Given the description of an element on the screen output the (x, y) to click on. 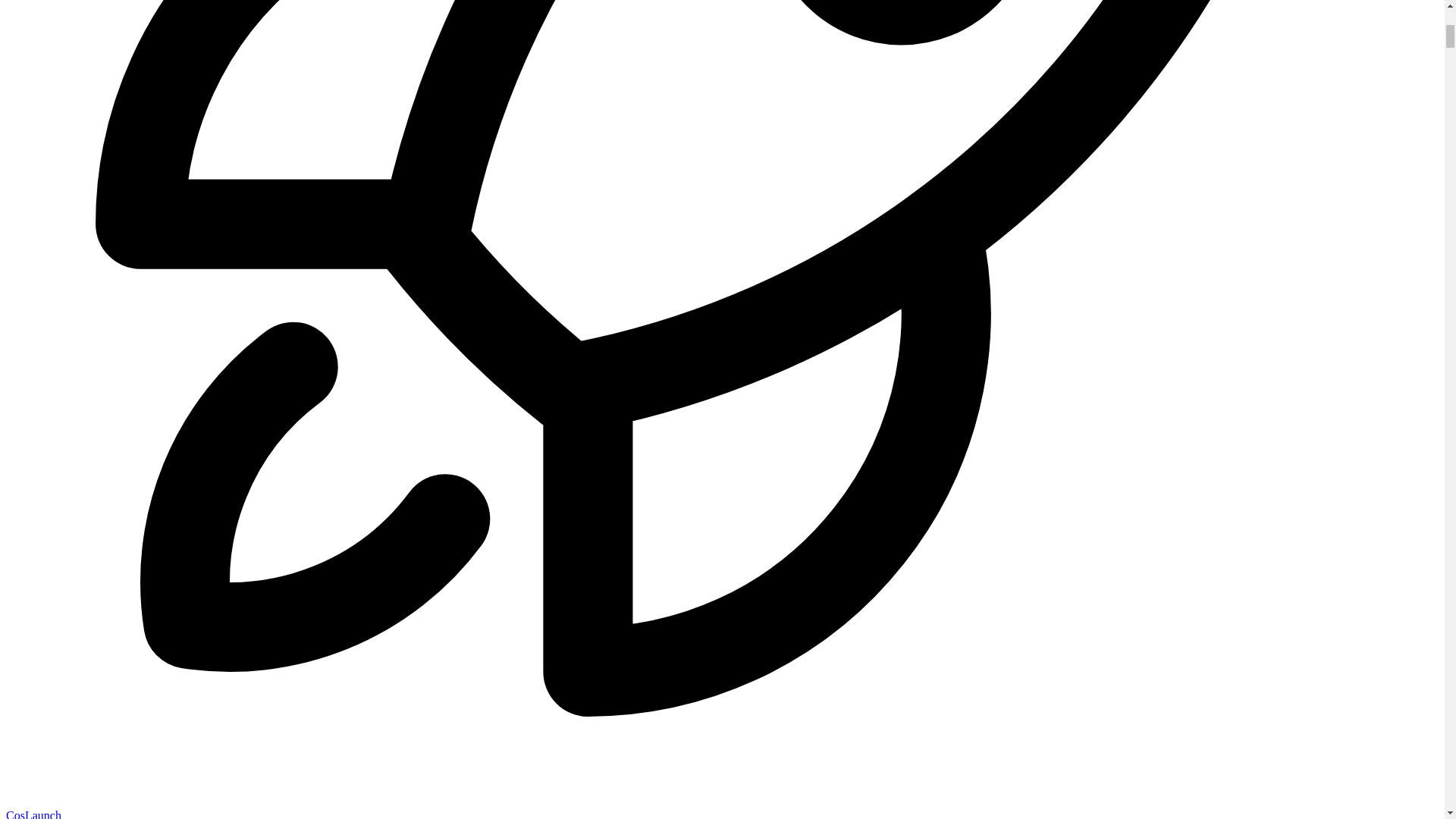
CosLaunch (33, 814)
CosLaunch (33, 814)
